Given the description of an element on the screen output the (x, y) to click on. 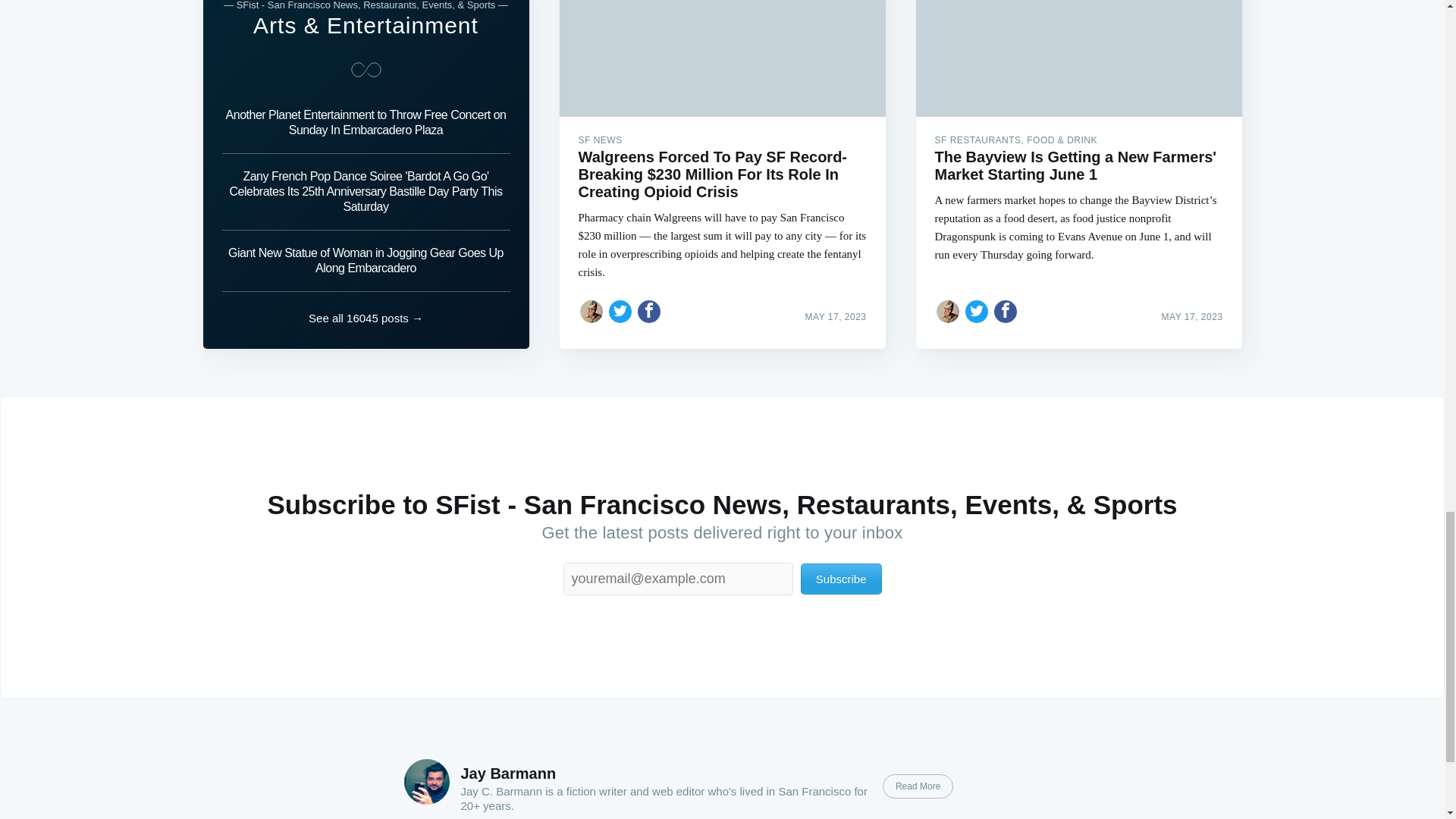
Share on Twitter (620, 311)
Share on Twitter (976, 311)
Share on Facebook (1004, 311)
Share on Facebook (649, 311)
Subscribe (841, 578)
